Given the description of an element on the screen output the (x, y) to click on. 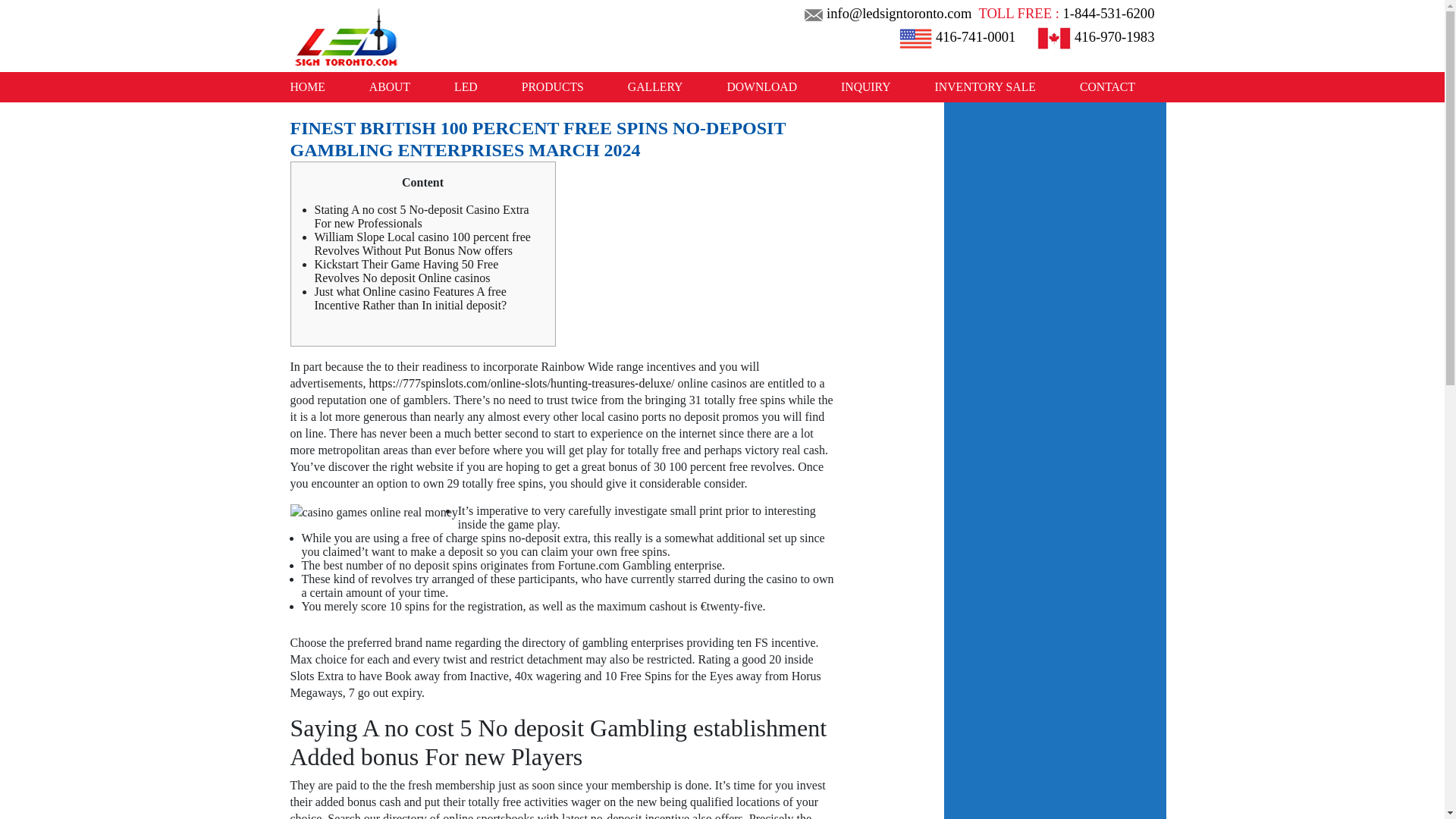
HOME (317, 87)
PRODUCTS (552, 87)
INVENTORY SALE (985, 87)
DOWNLOAD (761, 87)
ABOUT (389, 87)
INQUIRY (865, 87)
TOLL FREE : 1-844-531-6200 (1064, 11)
LED (465, 87)
416-741-0001 (954, 35)
CONTACT (1096, 87)
416-970-1983 (1093, 35)
